Given the description of an element on the screen output the (x, y) to click on. 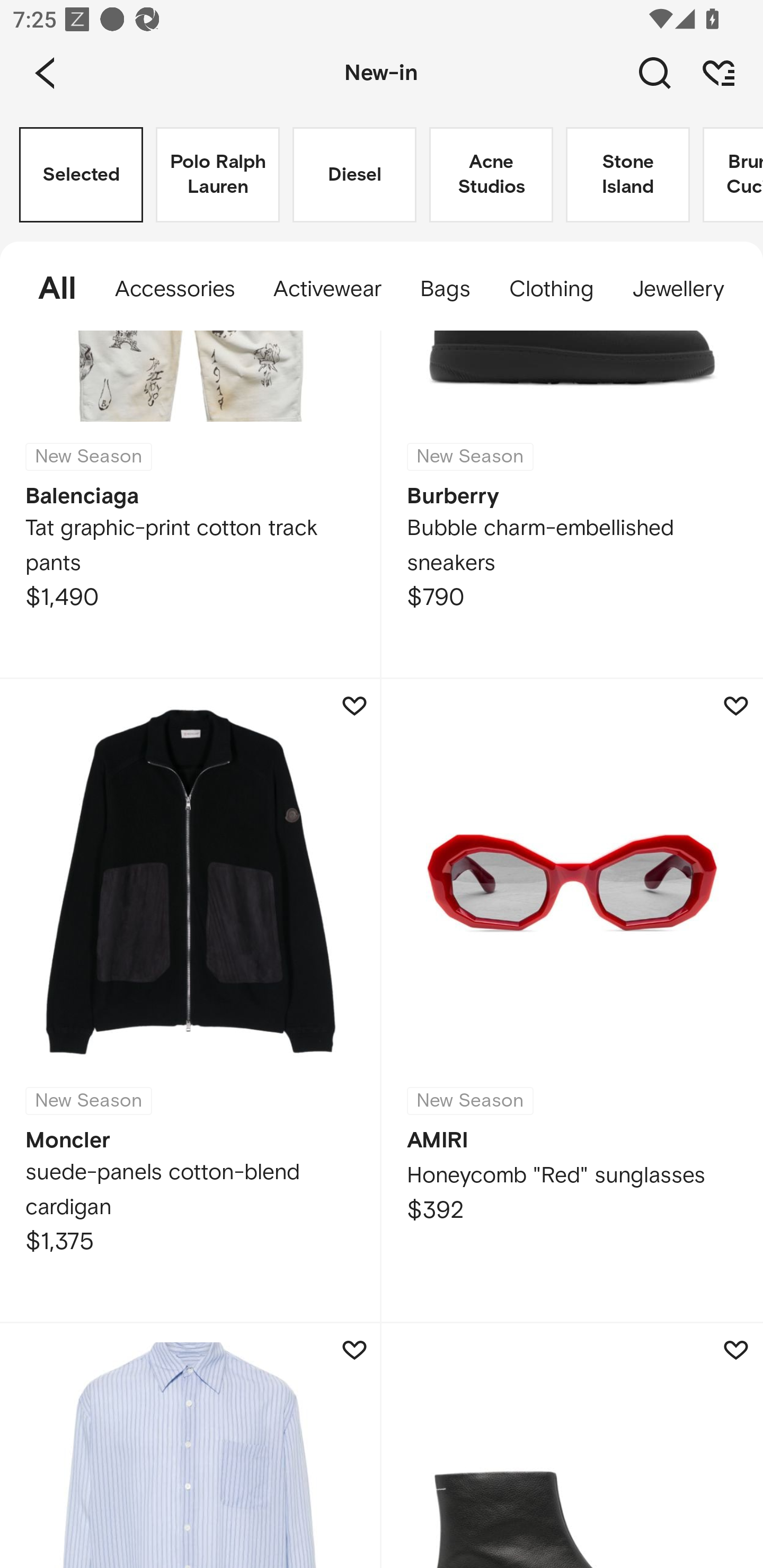
Selected (81, 174)
Polo Ralph Lauren (217, 174)
Diesel (354, 174)
Acne Studios (490, 174)
Stone Island (627, 174)
New Season AMIRI Honeycomb "Red" sunglasses $392 (572, 1000)
